Given the description of an element on the screen output the (x, y) to click on. 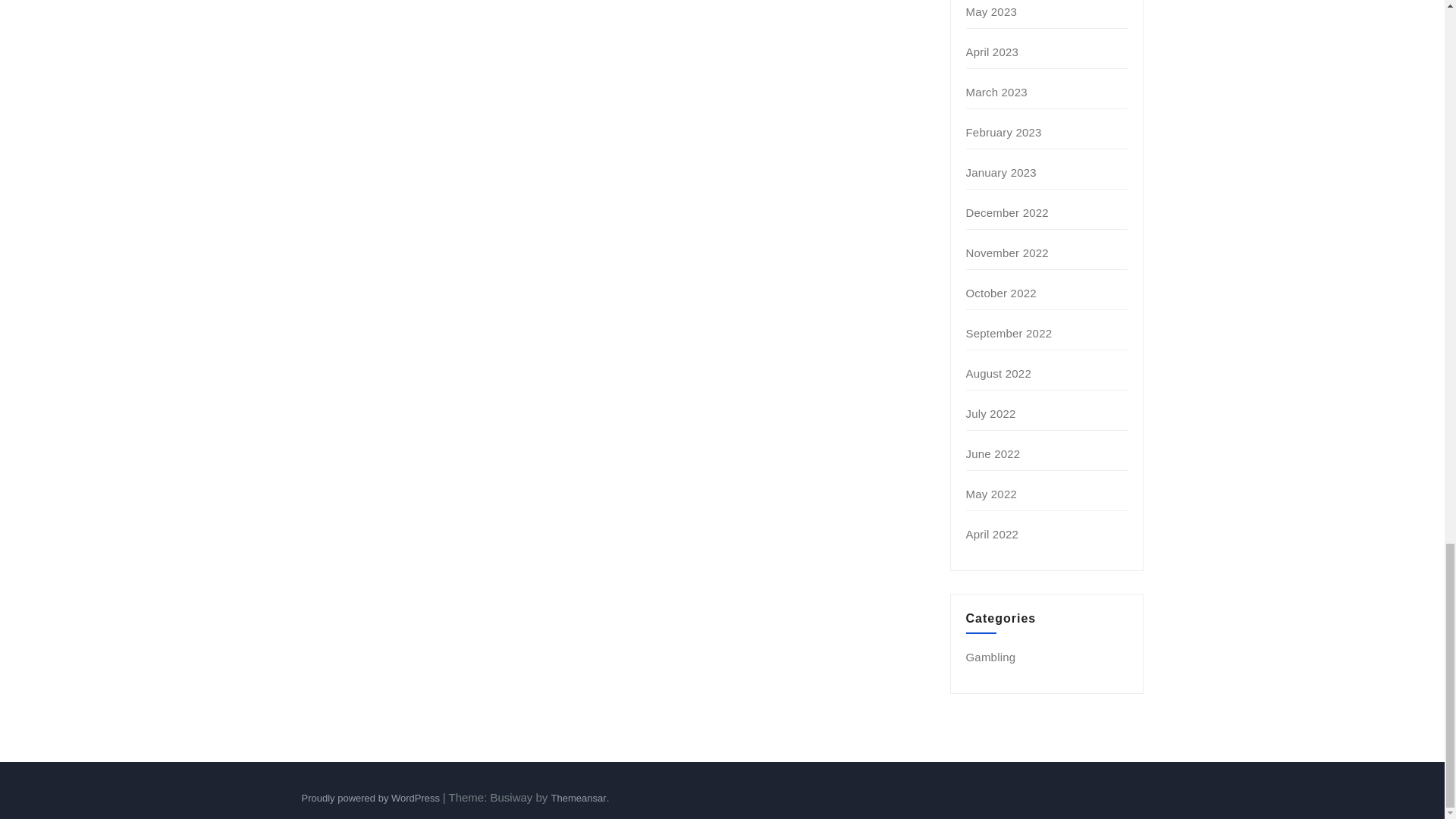
December 2022 (1007, 212)
April 2023 (992, 51)
March 2023 (996, 91)
February 2023 (1004, 132)
May 2023 (991, 11)
January 2023 (1001, 172)
